Given the description of an element on the screen output the (x, y) to click on. 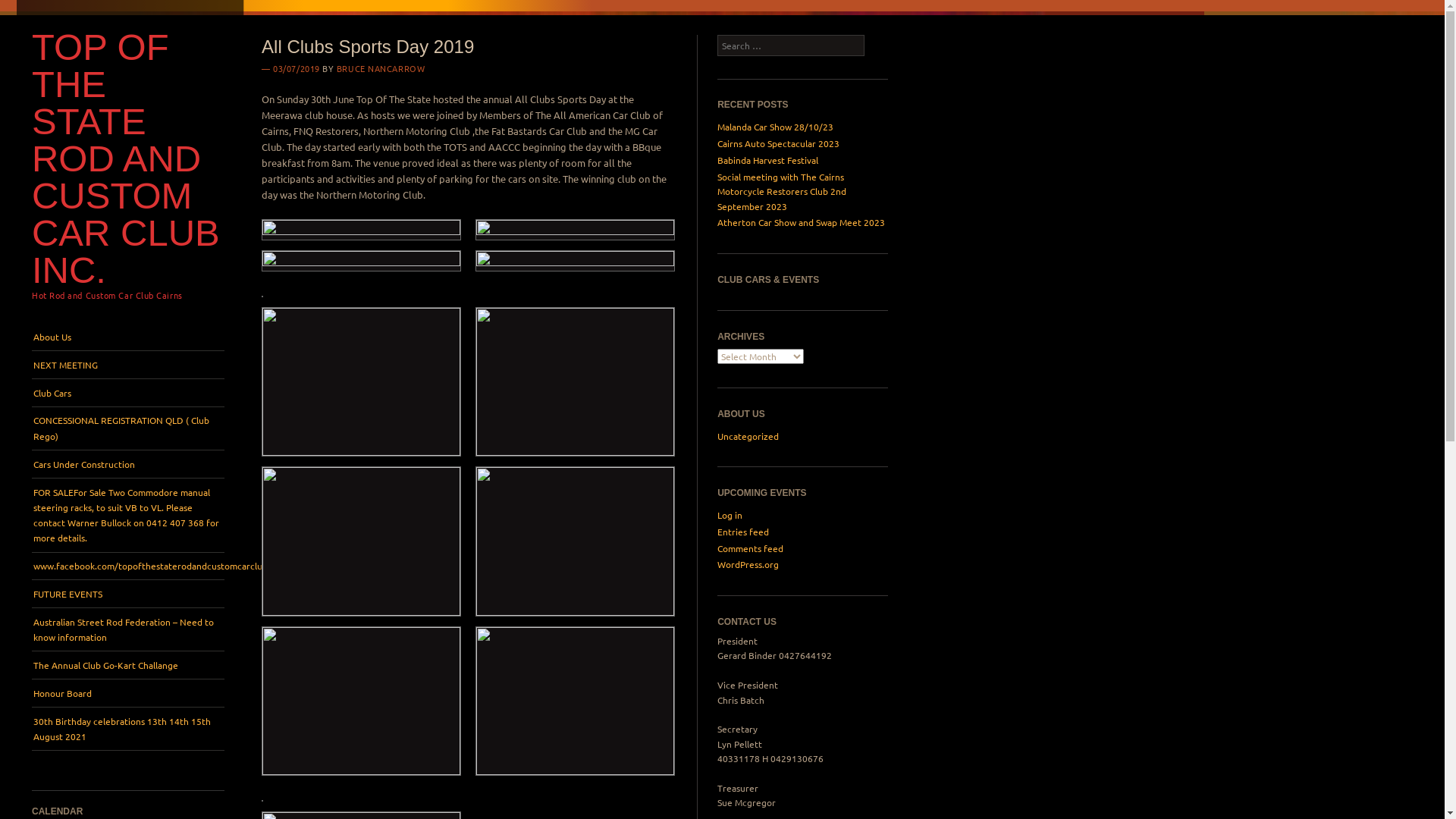
Entries feed Element type: text (742, 531)
Cars Under Construction Element type: text (127, 463)
www.facebook.com/topofthestaterodandcustomcarclub Element type: text (127, 566)
Club Cars Element type: text (127, 392)
About Us Element type: text (127, 336)
Honour Board Element type: text (127, 692)
Babinda Harvest Festival Element type: text (767, 159)
30th Birthday celebrations 13th 14th 15th August 2021 Element type: text (127, 728)
The Annual Club Go-Kart Challange Element type: text (127, 664)
Malanda Car Show 28/10/23 Element type: text (775, 126)
NEXT MEETING Element type: text (127, 364)
Log in Element type: text (729, 514)
CONCESSIONAL REGISTRATION QLD ( Club Rego) Element type: text (127, 428)
Atherton Car Show and Swap Meet 2023 Element type: text (800, 222)
Comments feed Element type: text (750, 548)
Cairns Auto Spectacular 2023 Element type: text (778, 143)
Skip to content Element type: text (63, 330)
03/07/2019 Element type: text (296, 68)
WordPress.org Element type: text (747, 564)
Search Element type: text (28, 14)
Uncategorized Element type: text (747, 435)
FUTURE EVENTS Element type: text (127, 593)
BRUCE NANCARROW Element type: text (380, 68)
TOP OF THE STATE ROD AND CUSTOM CAR CLUB INC. Element type: text (125, 158)
